Given the description of an element on the screen output the (x, y) to click on. 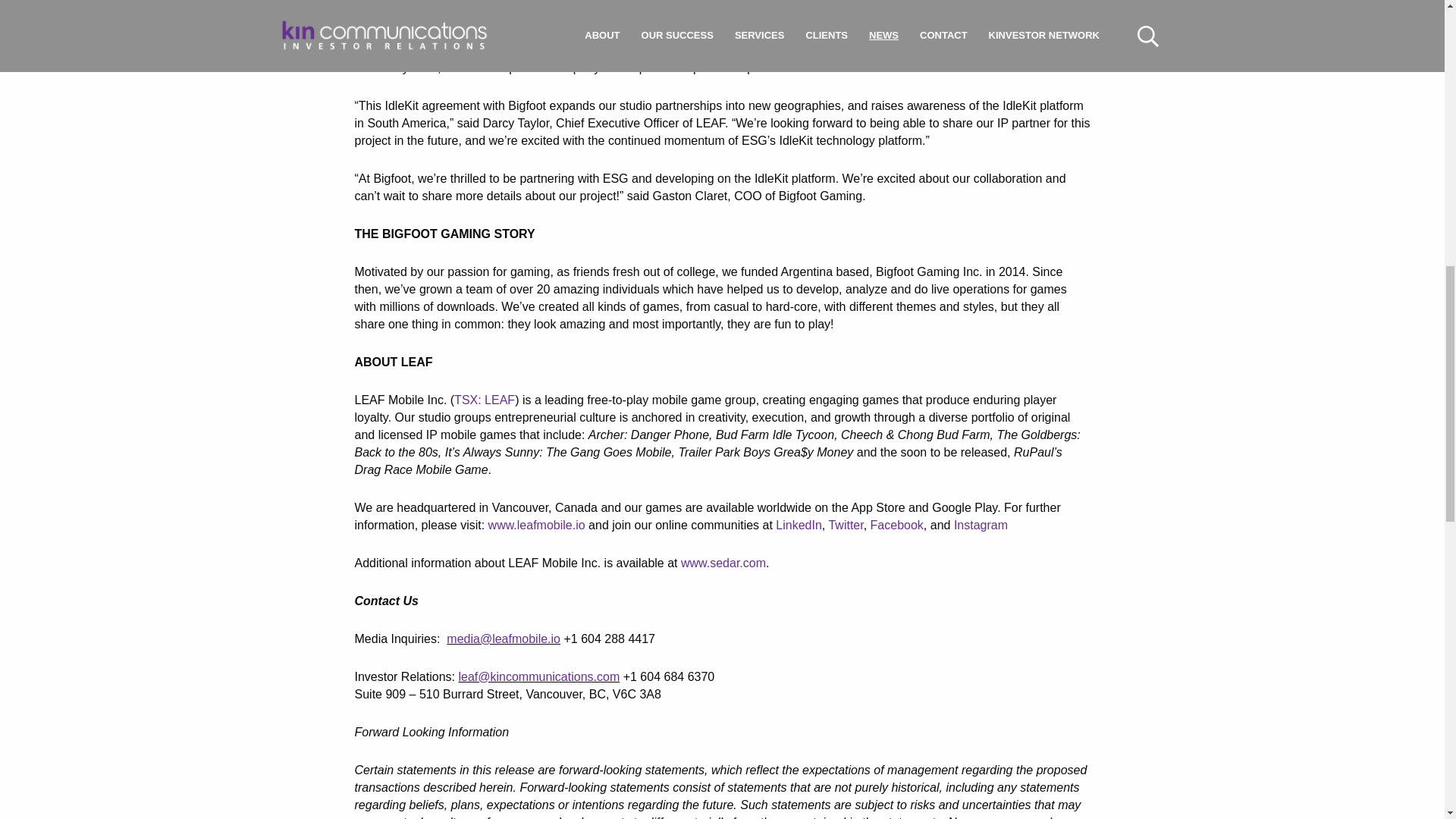
Facebook (896, 524)
Twitter (845, 524)
www.leafmobile.io (536, 524)
www.sedar.com (723, 562)
Instagram (980, 524)
LinkedIn (799, 524)
TSX: LEAF (484, 399)
